Given the description of an element on the screen output the (x, y) to click on. 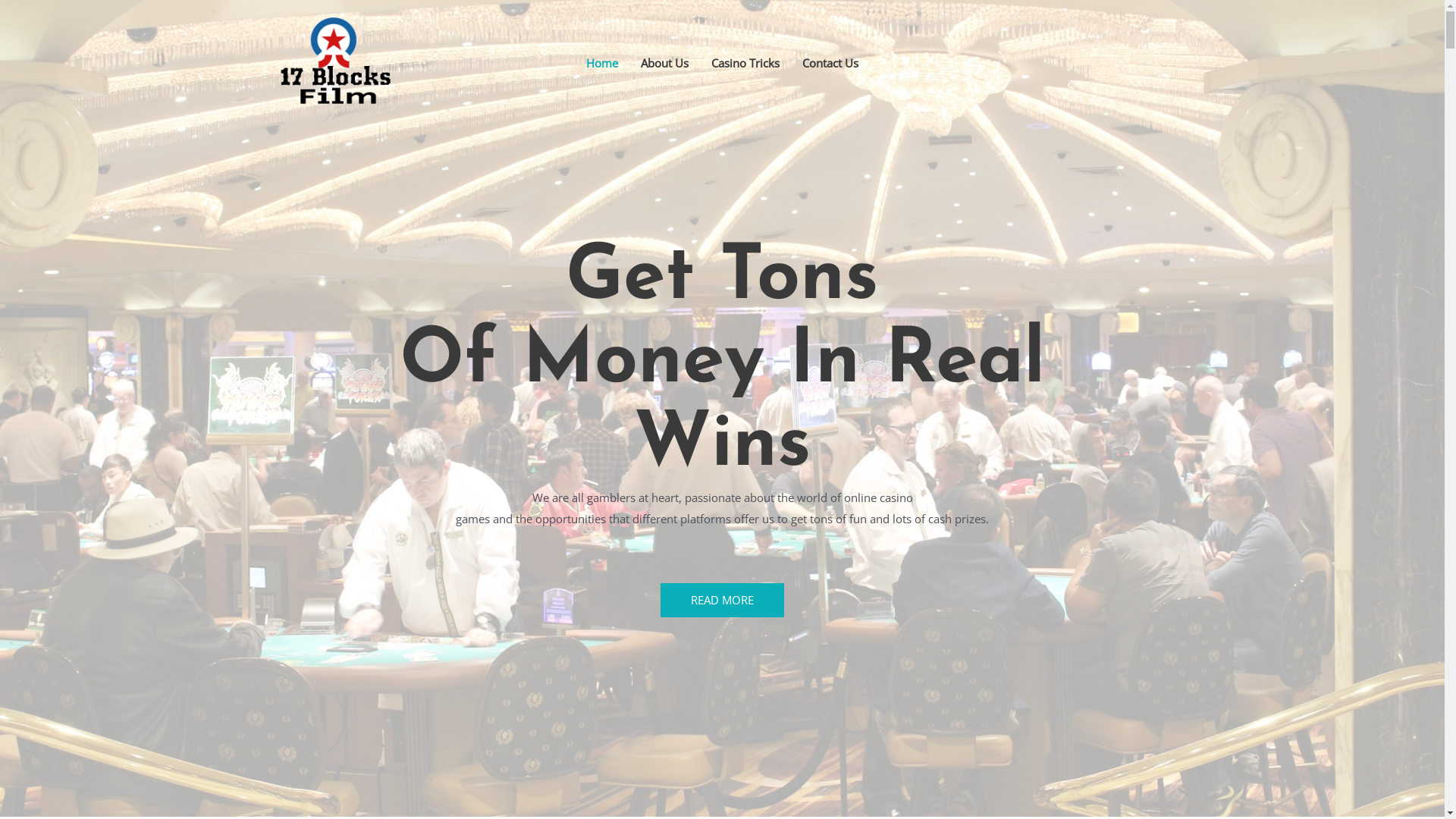
Home Element type: text (601, 62)
About Us Element type: text (664, 62)
Casino Tricks Element type: text (744, 62)
Contact Us Element type: text (829, 62)
READ MORE Element type: text (722, 600)
